Given the description of an element on the screen output the (x, y) to click on. 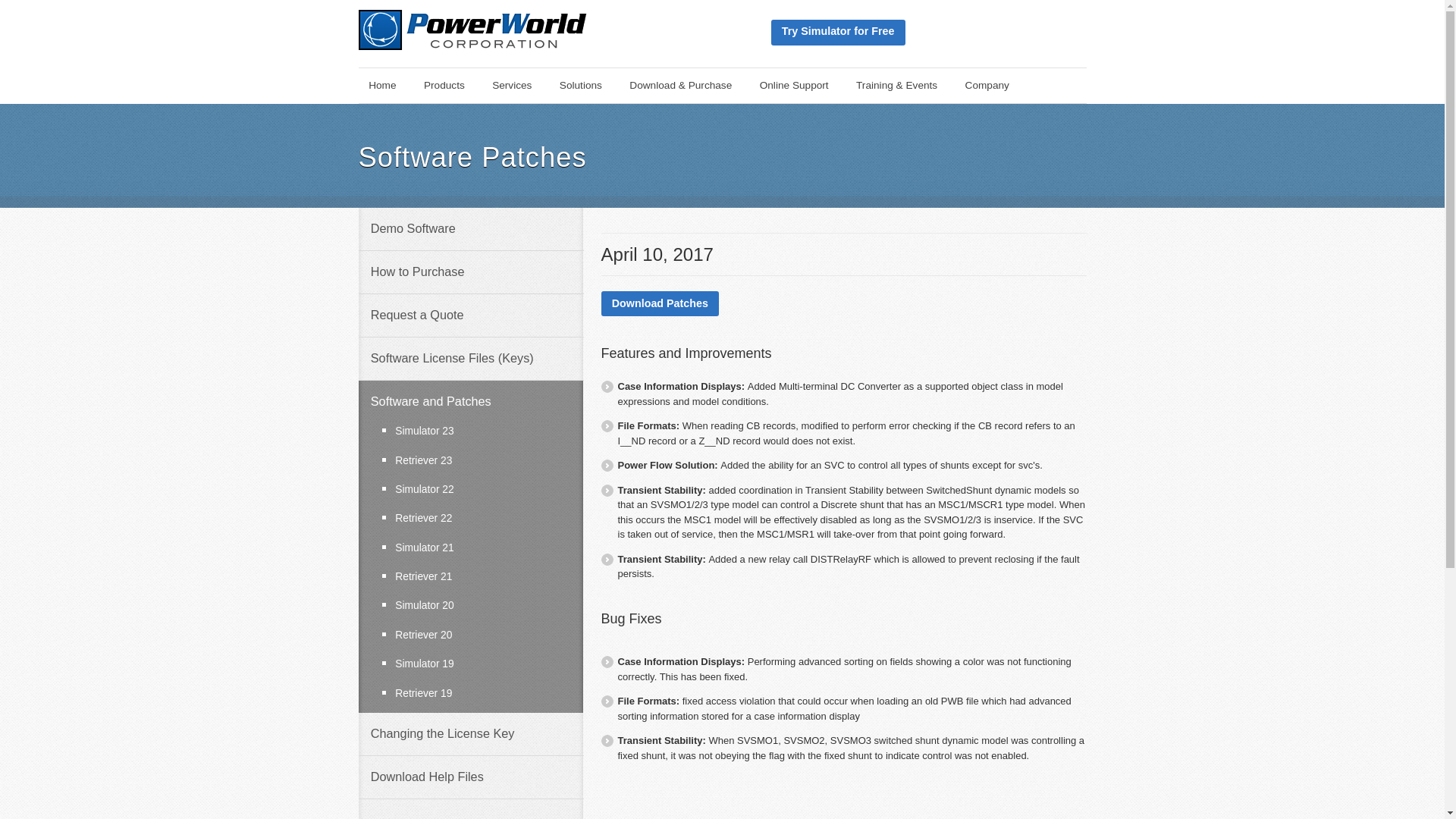
Try Simulator for Free (837, 32)
Skip to main content (368, 78)
Solutions (579, 84)
Online Support (793, 84)
Services (511, 84)
Skip to main content (368, 78)
Products (443, 84)
Home (382, 84)
